Given the description of an element on the screen output the (x, y) to click on. 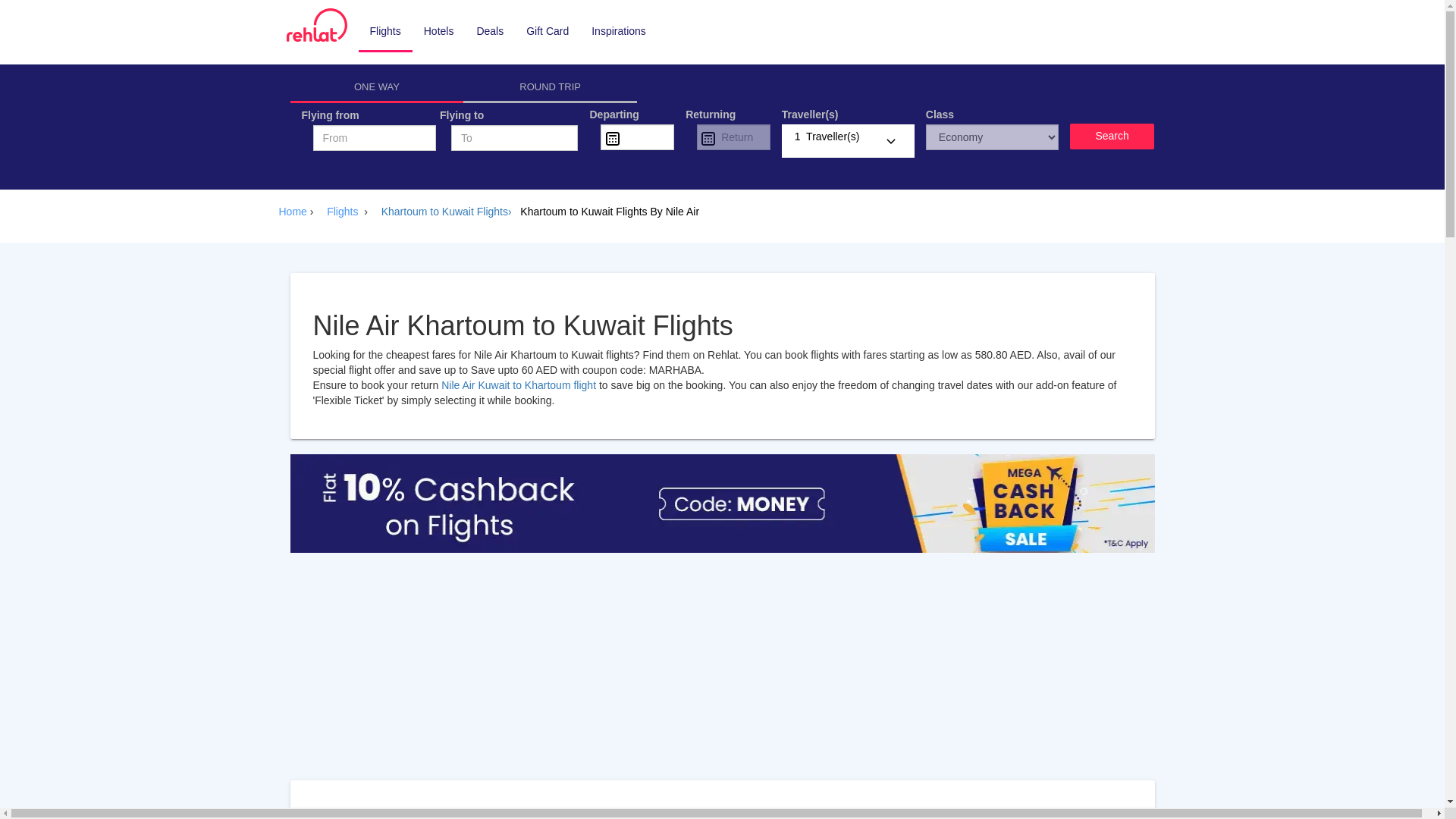
Hotels (438, 30)
Nile Air Kuwait to Khartoum flight (519, 385)
Flights (385, 32)
ONE WAY (376, 88)
Inspirations (618, 30)
Flights   (345, 211)
Search (1112, 136)
Deals (489, 30)
ROUND TRIP (550, 88)
